Given the description of an element on the screen output the (x, y) to click on. 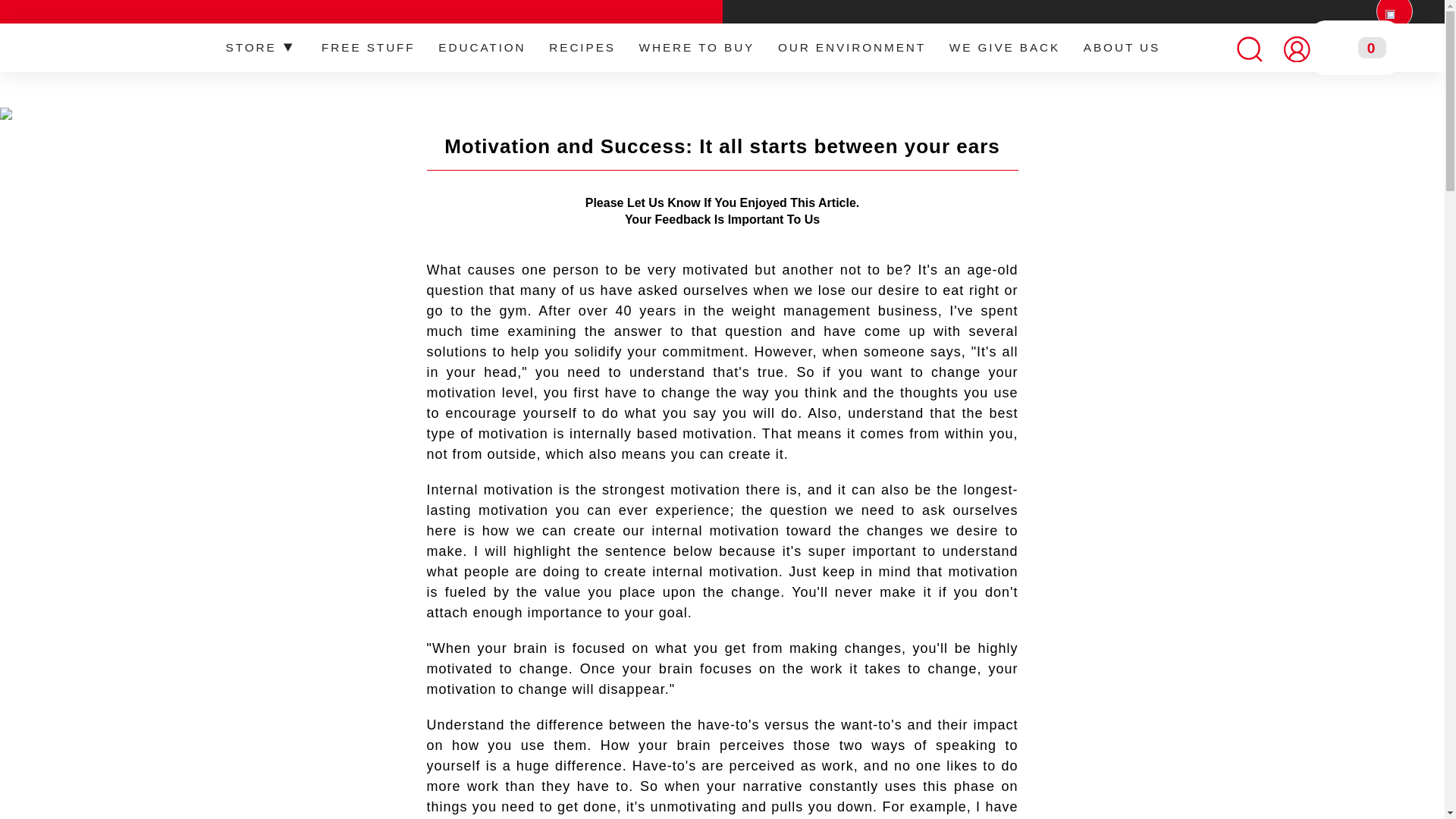
FREE STUFF (368, 47)
OUR ENVIRONMENT (852, 47)
0 (1355, 48)
WE GIVE BACK (1004, 47)
EDUCATION (481, 47)
ABOUT US (1121, 47)
RECIPES (582, 47)
WHERE TO BUY (696, 47)
